Given the description of an element on the screen output the (x, y) to click on. 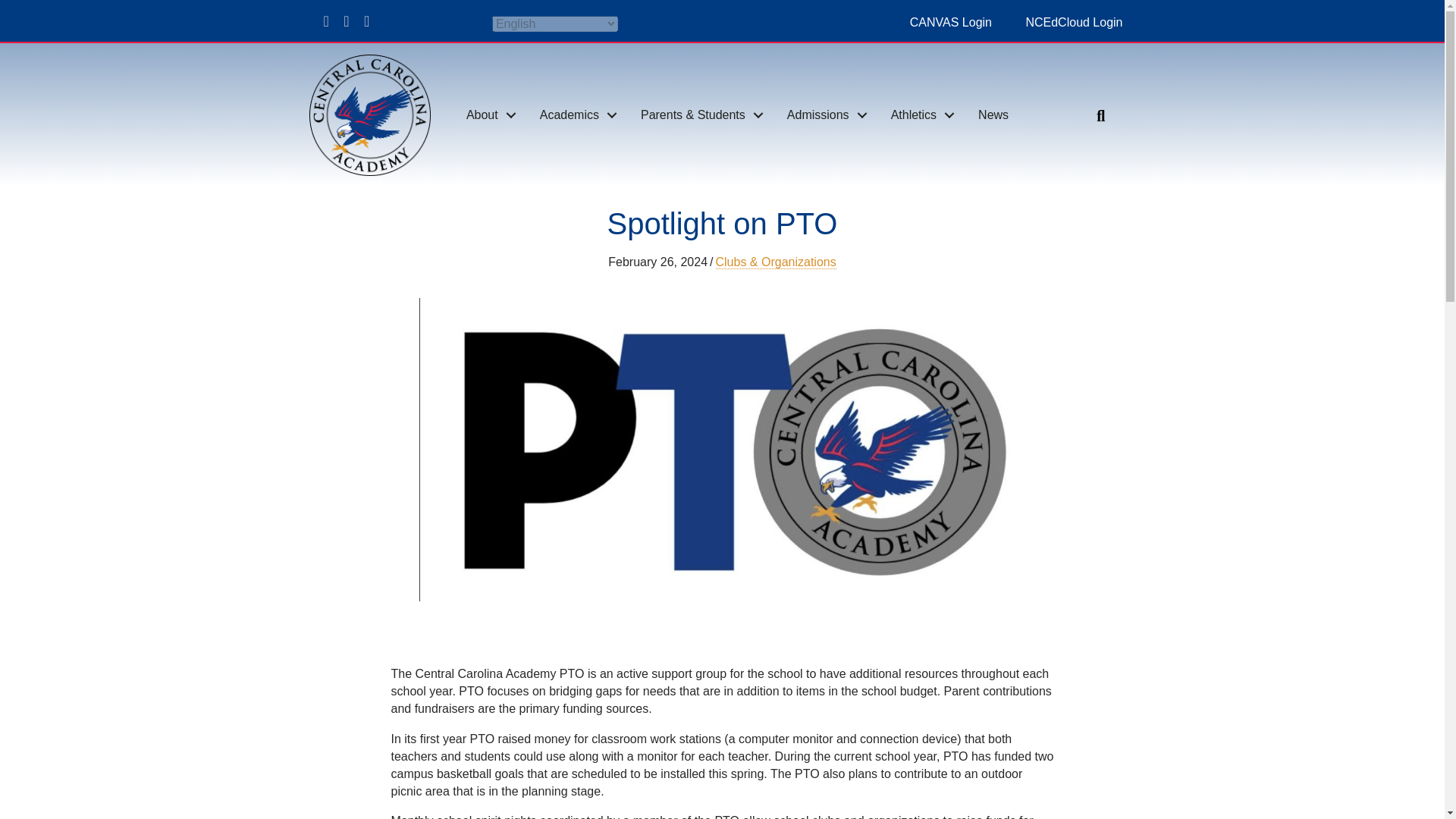
Academics (574, 114)
Admissions (823, 114)
Athletics (919, 114)
NCEdCloud Login (1073, 21)
central-carolina-academy (369, 115)
About (487, 114)
News (992, 114)
CANVAS Login (950, 21)
